Given the description of an element on the screen output the (x, y) to click on. 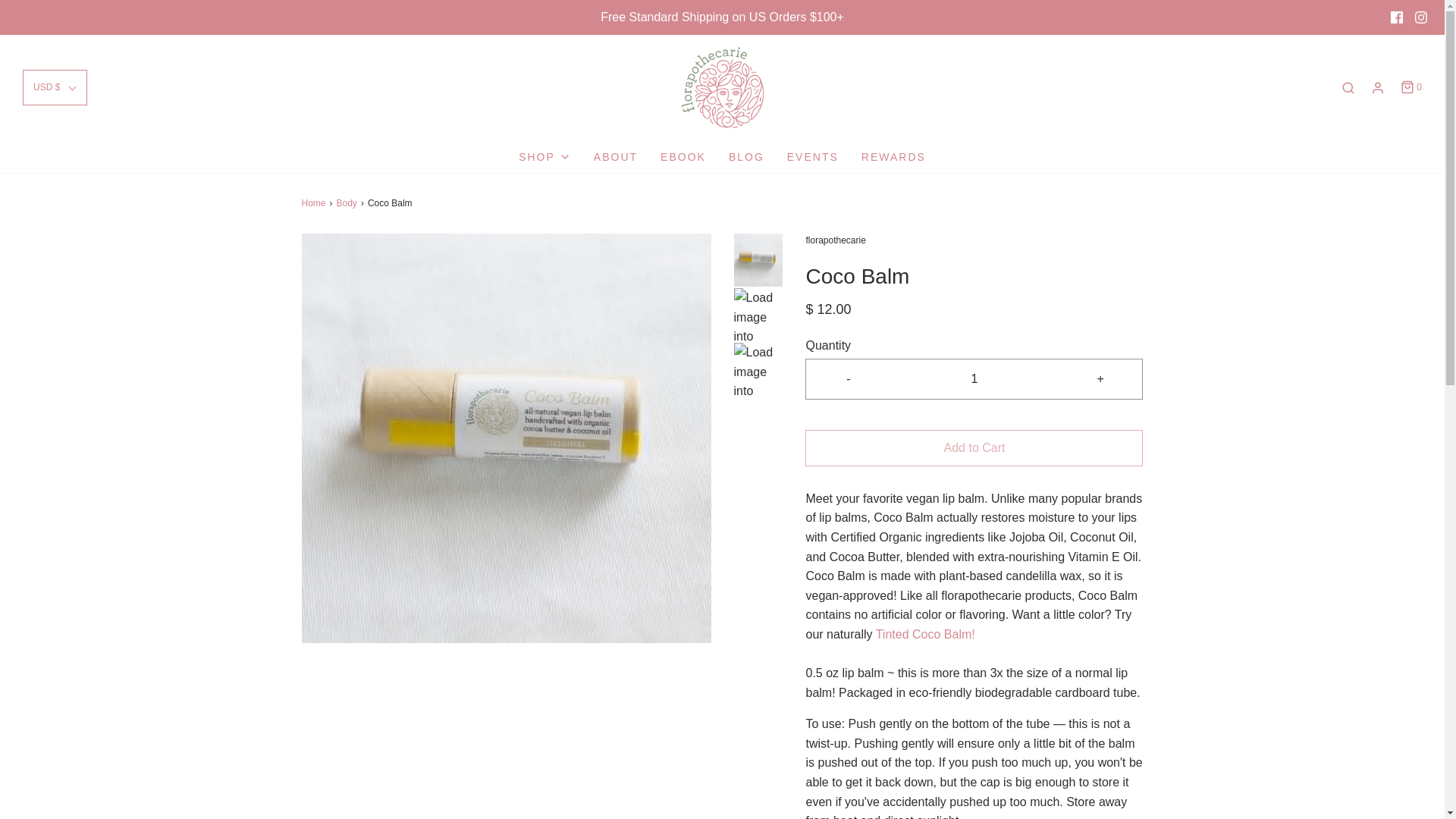
0 (1409, 87)
1 (973, 378)
Facebook icon (1396, 17)
Instagram icon (1420, 17)
Cart (1409, 87)
Facebook icon (1396, 17)
Log in (1377, 88)
Instagram icon (1420, 17)
Search (1347, 88)
Search (1423, 8)
Tinted Coco Balm lip balm (925, 634)
Back to the frontpage (315, 203)
